Given the description of an element on the screen output the (x, y) to click on. 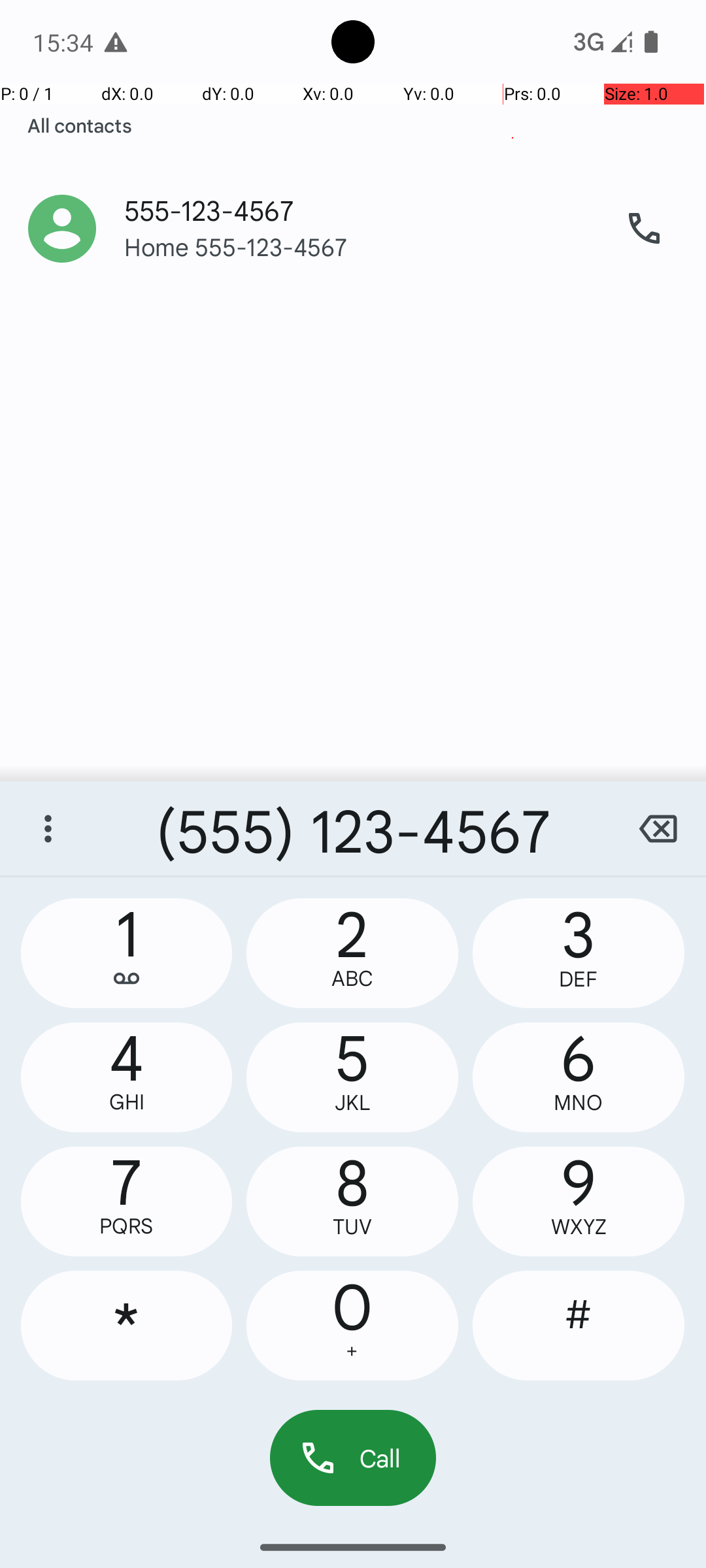
Call Element type: android.widget.Button (352, 1457)
(555) 123-4567 Element type: android.widget.EditText (352, 828)
backspace Element type: android.widget.ImageButton (657, 828)
1, Element type: android.widget.FrameLayout (126, 953)
2,ABC Element type: android.widget.FrameLayout (352, 953)
3,DEF Element type: android.widget.FrameLayout (578, 953)
4,GHI Element type: android.widget.FrameLayout (126, 1077)
5,JKL Element type: android.widget.FrameLayout (352, 1077)
6,MNO Element type: android.widget.FrameLayout (578, 1077)
7,PQRS Element type: android.widget.FrameLayout (126, 1201)
8,TUV Element type: android.widget.FrameLayout (352, 1201)
9,WXYZ Element type: android.widget.FrameLayout (578, 1201)
* Element type: android.widget.FrameLayout (126, 1325)
# Element type: android.widget.FrameLayout (578, 1325)
ABC Element type: android.widget.TextView (351, 978)
DEF Element type: android.widget.TextView (578, 978)
GHI Element type: android.widget.TextView (126, 1101)
JKL Element type: android.widget.TextView (351, 1102)
MNO Element type: android.widget.TextView (578, 1102)
PQRS Element type: android.widget.TextView (126, 1225)
TUV Element type: android.widget.TextView (351, 1226)
WXYZ Element type: android.widget.TextView (578, 1226)
+ Element type: android.widget.TextView (351, 1351)
All contacts Element type: android.widget.TextView (79, 124)
Quick contact for 555-123-4567 Element type: android.widget.QuickContactBadge (62, 228)
‪555-123-4567‬ Element type: android.widget.TextView (360, 196)
Home ‪555-123-4567‬ Element type: android.widget.TextView (360, 259)
